Given the description of an element on the screen output the (x, y) to click on. 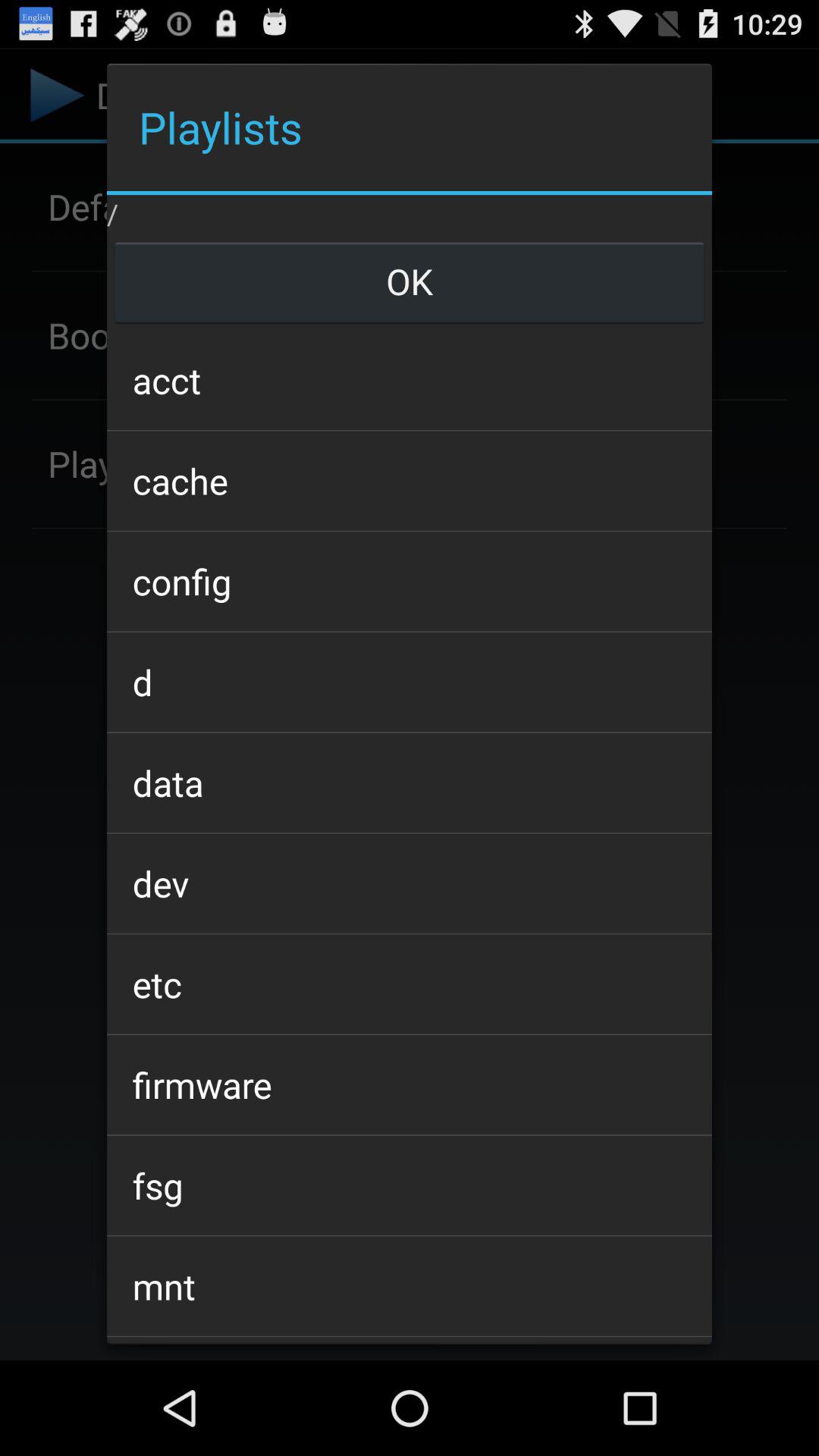
click the icon below the d item (409, 782)
